Given the description of an element on the screen output the (x, y) to click on. 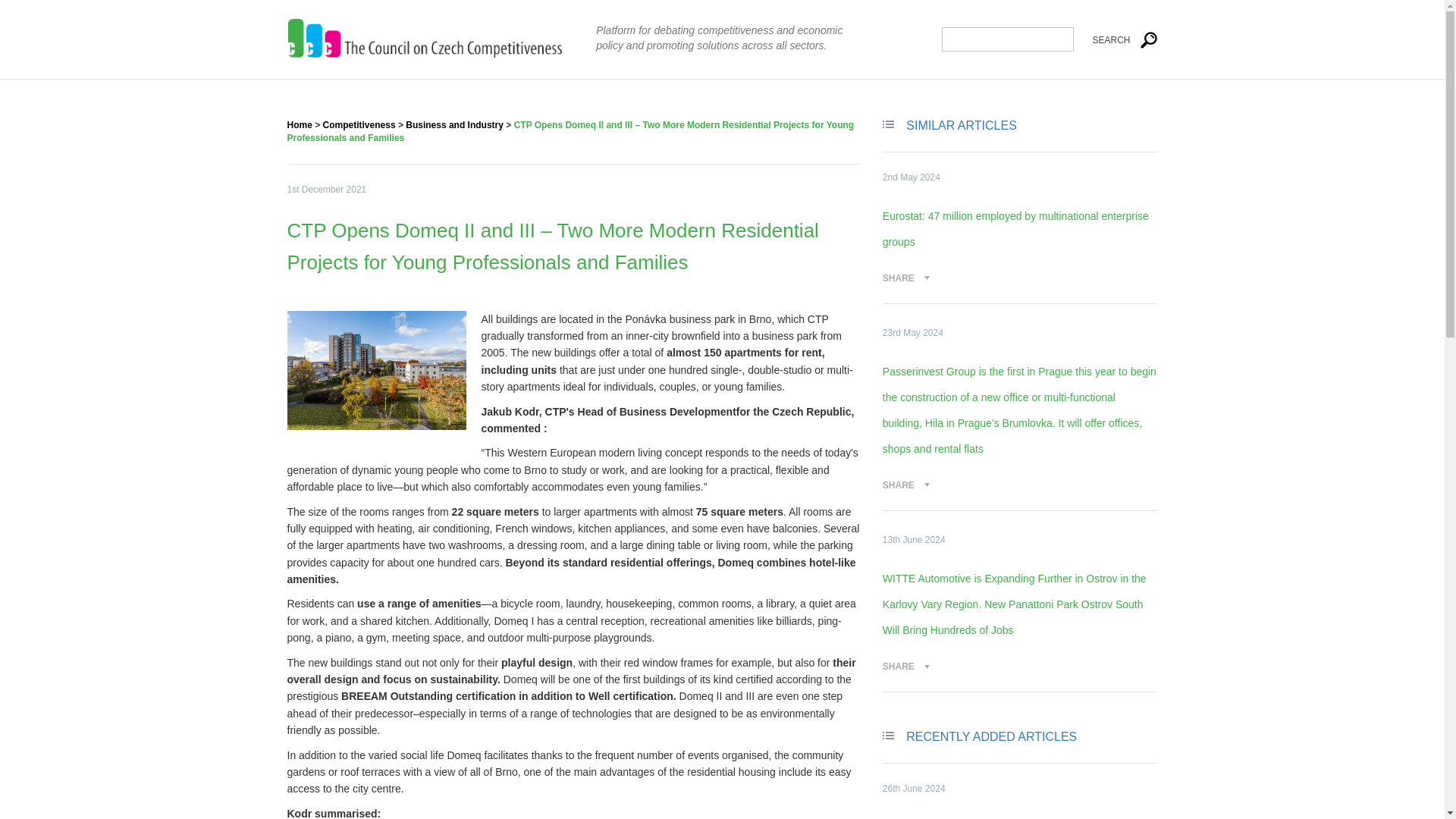
SHARE (906, 665)
Competitiveness (359, 124)
Business and Industry (454, 124)
Home (298, 124)
Search (1115, 40)
Search (1115, 40)
SIMILAR ARTICLES (960, 124)
SHARE (906, 277)
